Given the description of an element on the screen output the (x, y) to click on. 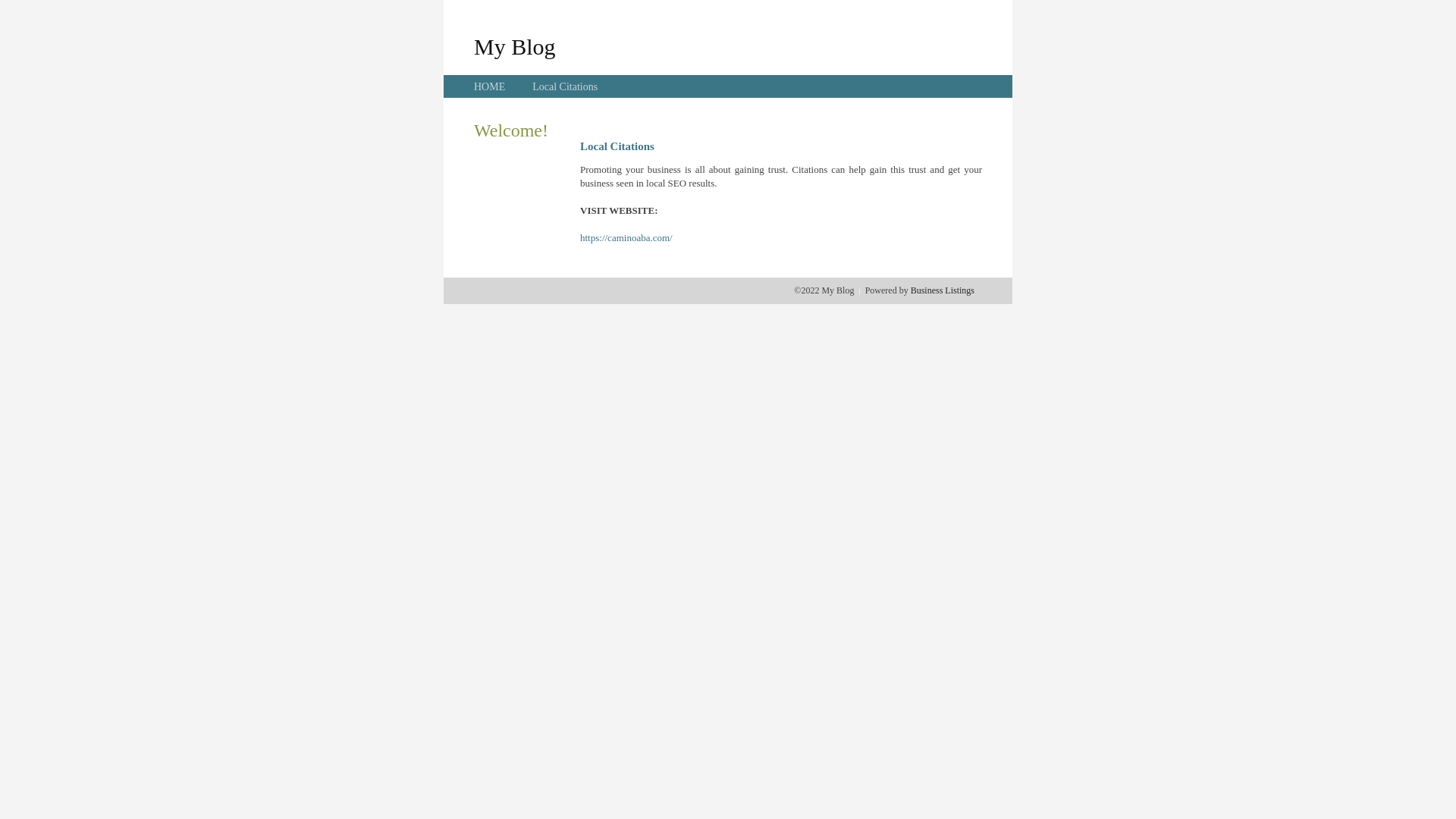
Local Citations Element type: text (564, 86)
Business Listings Element type: text (942, 290)
My Blog Element type: text (514, 46)
https://caminoaba.com/ Element type: text (626, 237)
HOME Element type: text (489, 86)
